Given the description of an element on the screen output the (x, y) to click on. 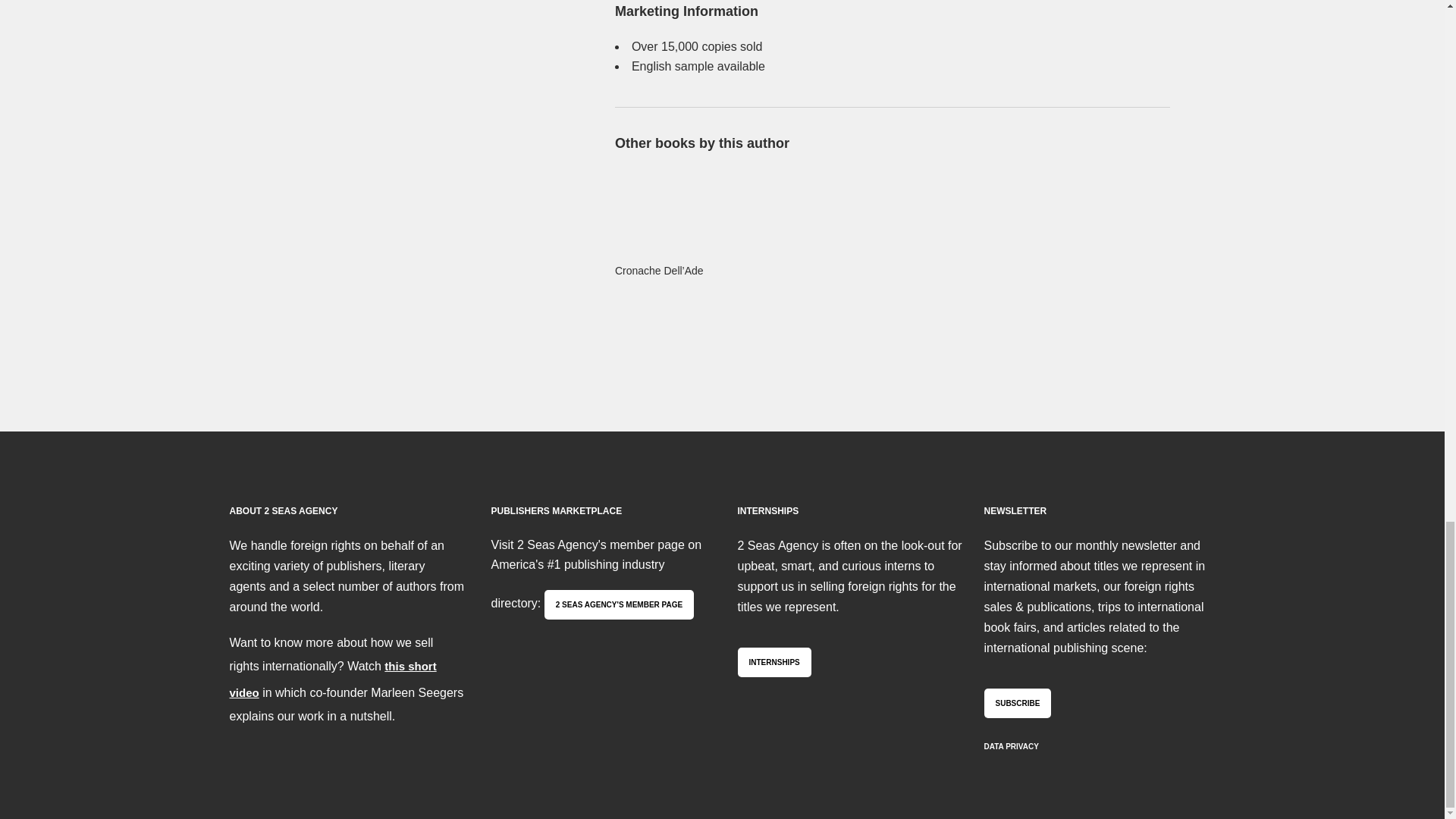
this short video (331, 679)
2 SEAS AGENCY'S MEMBER PAGE (619, 604)
SUBSCRIBE (1017, 703)
INTERNSHIPS (773, 662)
DATA PRIVACY (1011, 746)
